Given the description of an element on the screen output the (x, y) to click on. 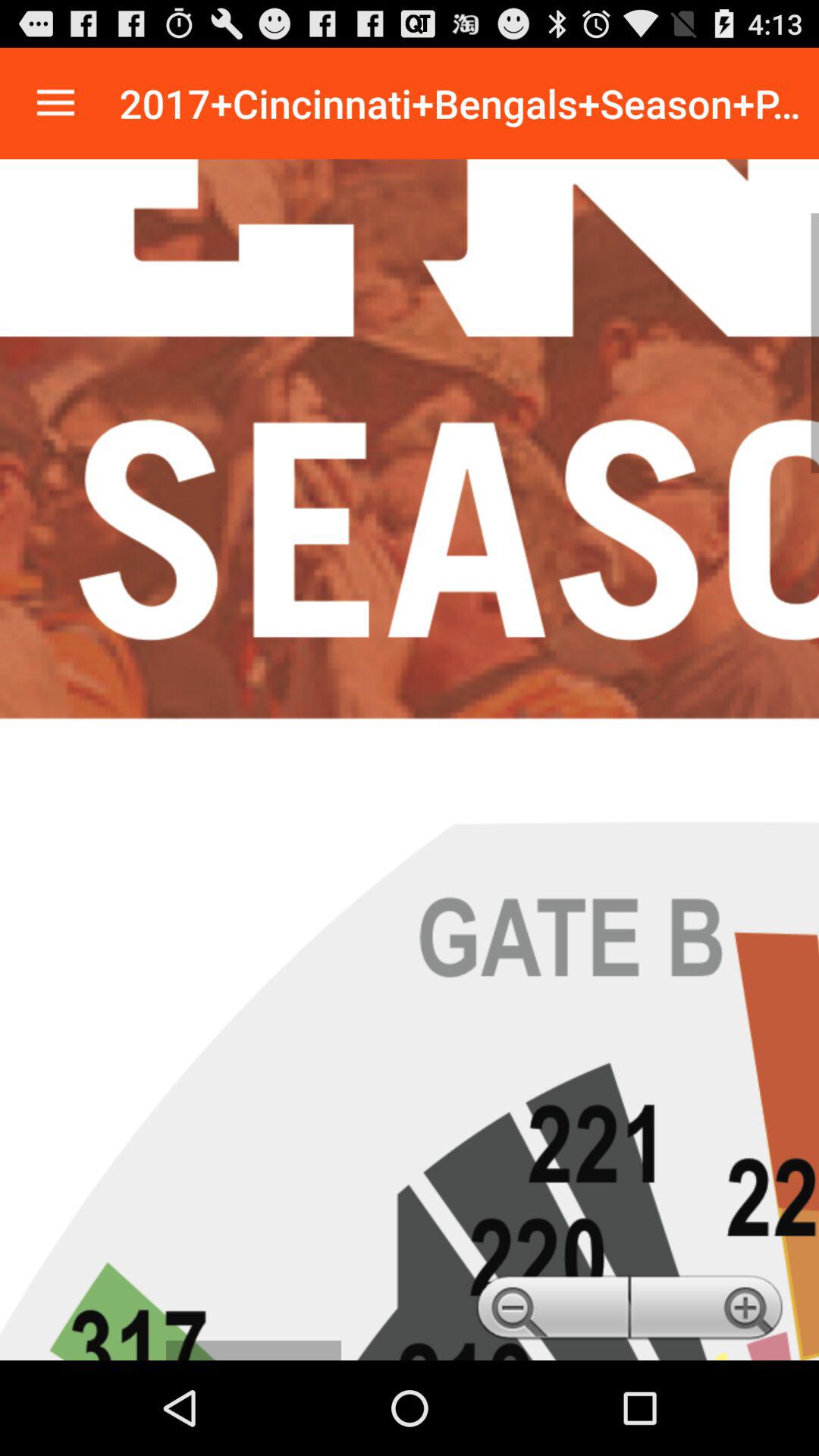
advertisement (409, 759)
